Given the description of an element on the screen output the (x, y) to click on. 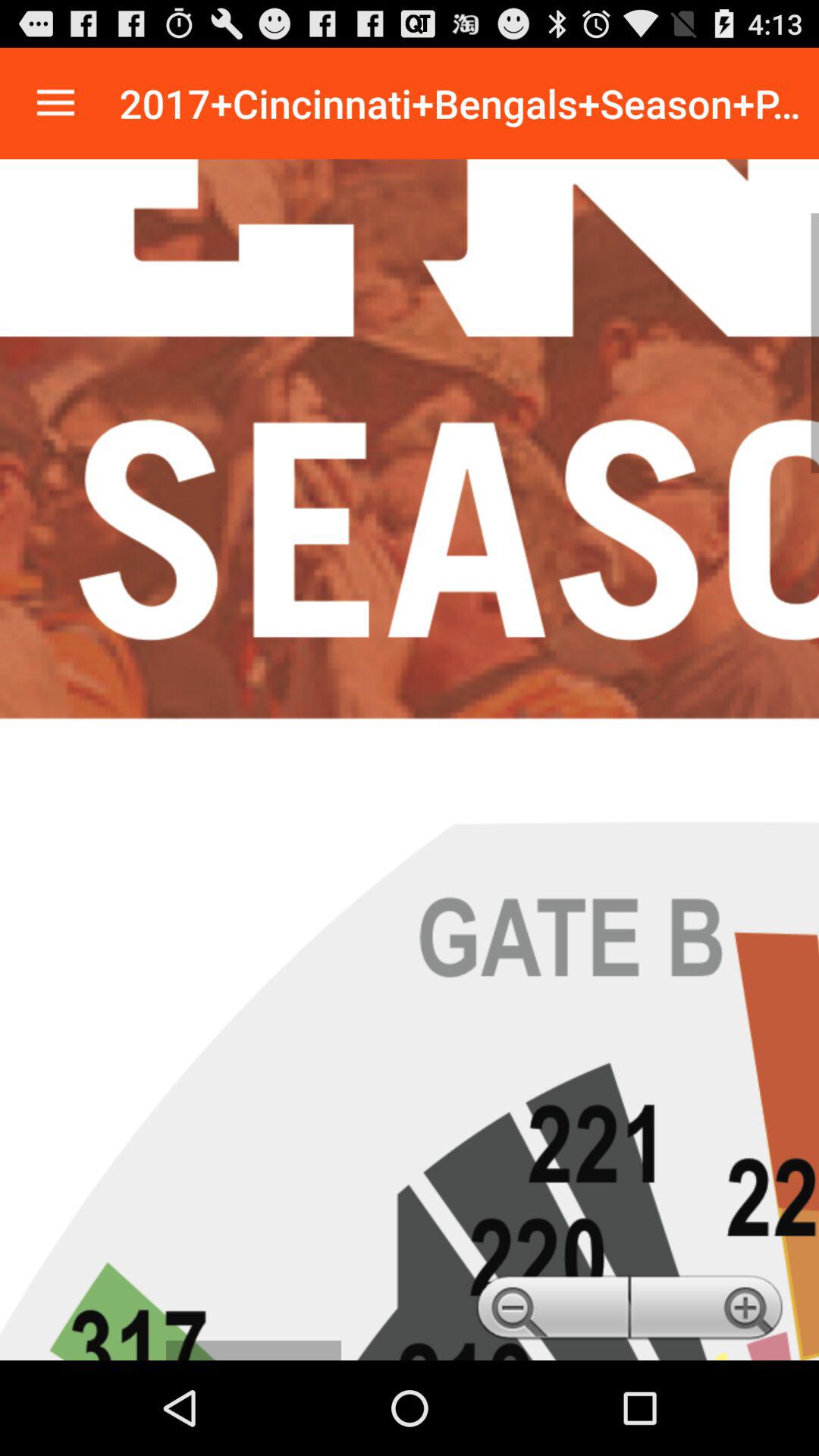
advertisement (409, 759)
